Given the description of an element on the screen output the (x, y) to click on. 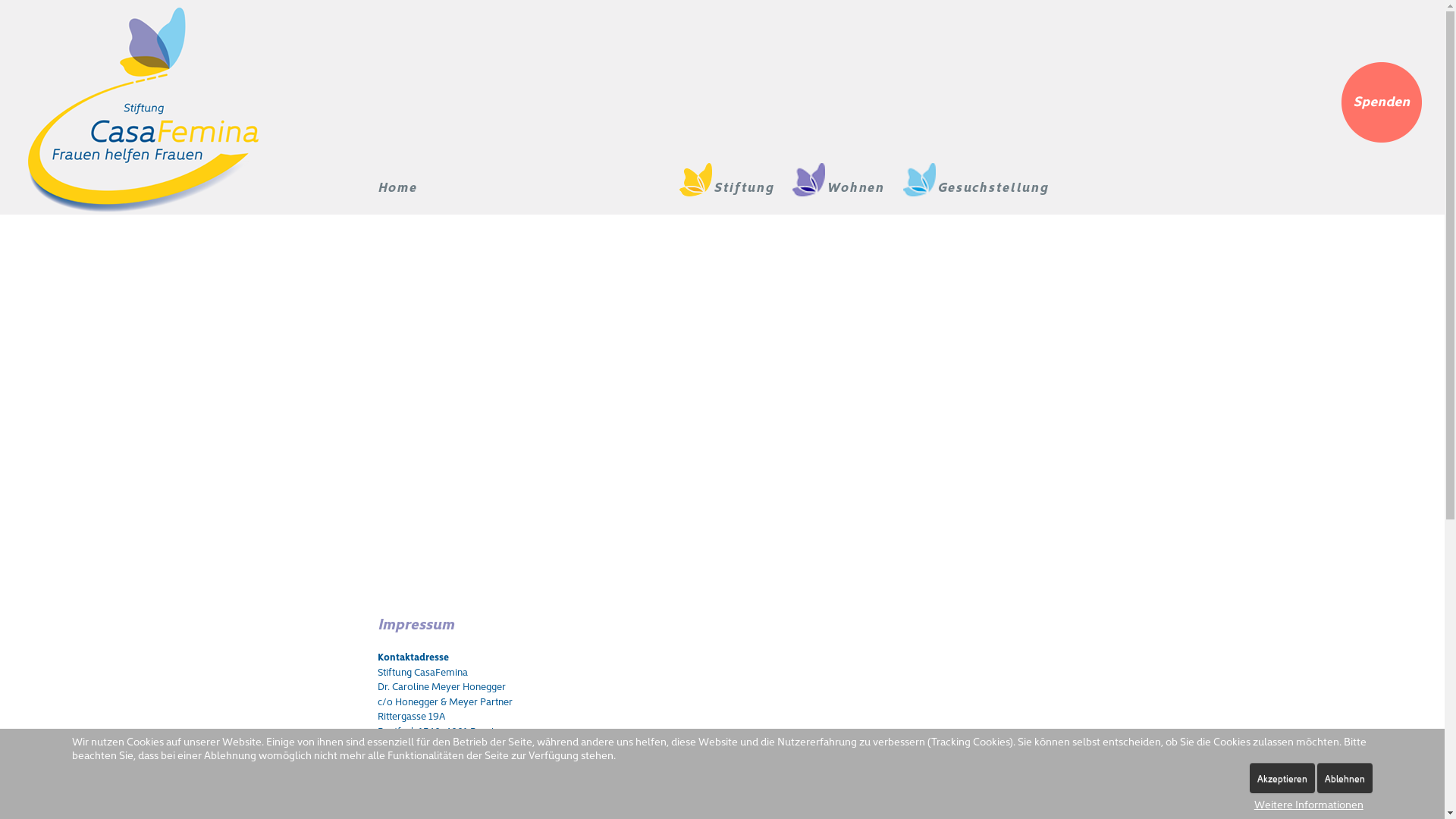
Akzeptieren Element type: text (1281, 777)
Stiftung Element type: text (736, 172)
Home Element type: text (404, 186)
info@casafemina.ch Element type: text (422, 758)
Gesuchstellung Element type: text (985, 172)
Weitere Informationen Element type: text (1308, 804)
Wohnen Element type: text (847, 172)
Stiftung CasaFemina - Frauen helfen Frauen Element type: hover (141, 107)
Ablehnen Element type: text (1344, 777)
